Given the description of an element on the screen output the (x, y) to click on. 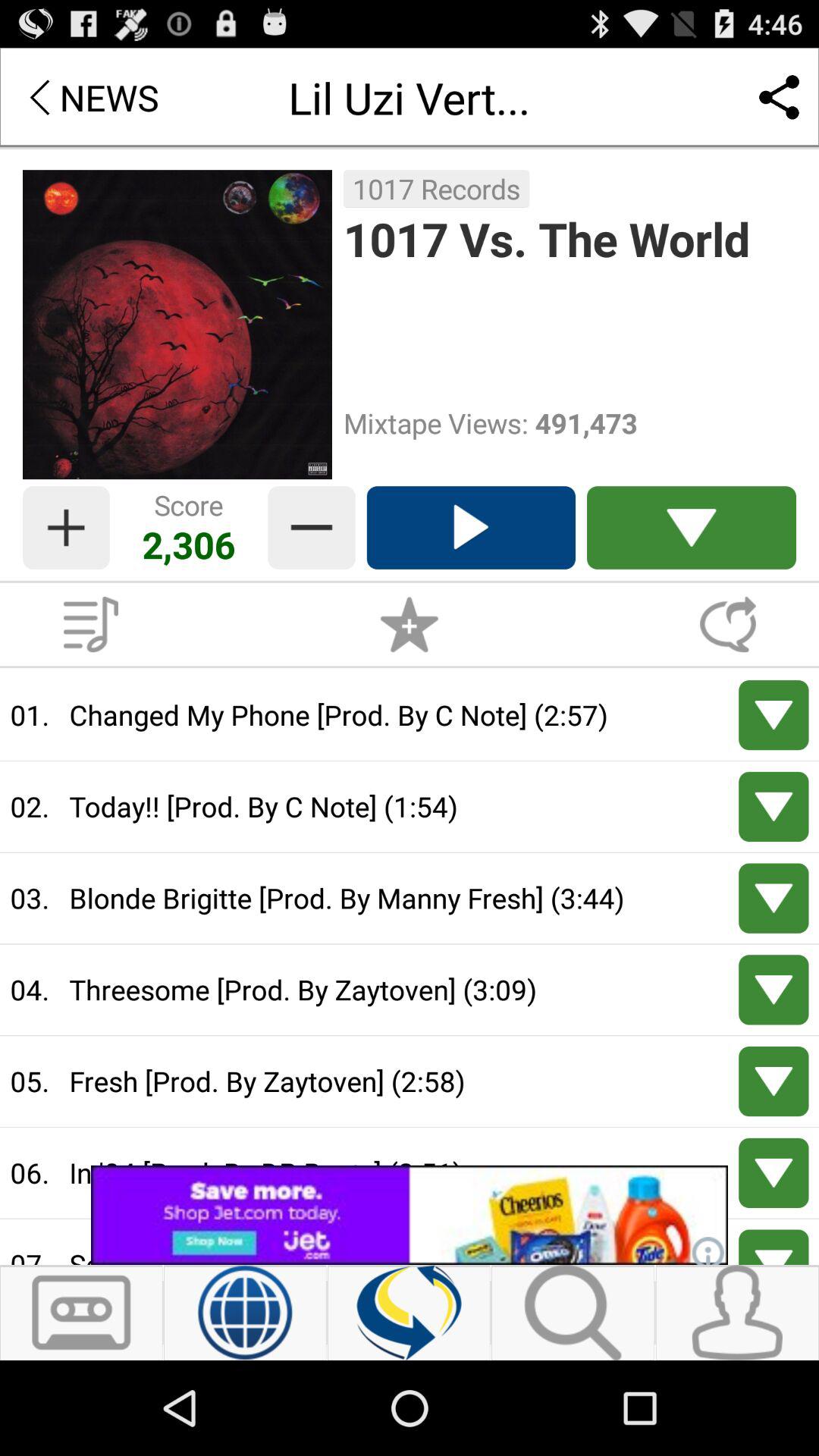
add the score (65, 527)
